Given the description of an element on the screen output the (x, y) to click on. 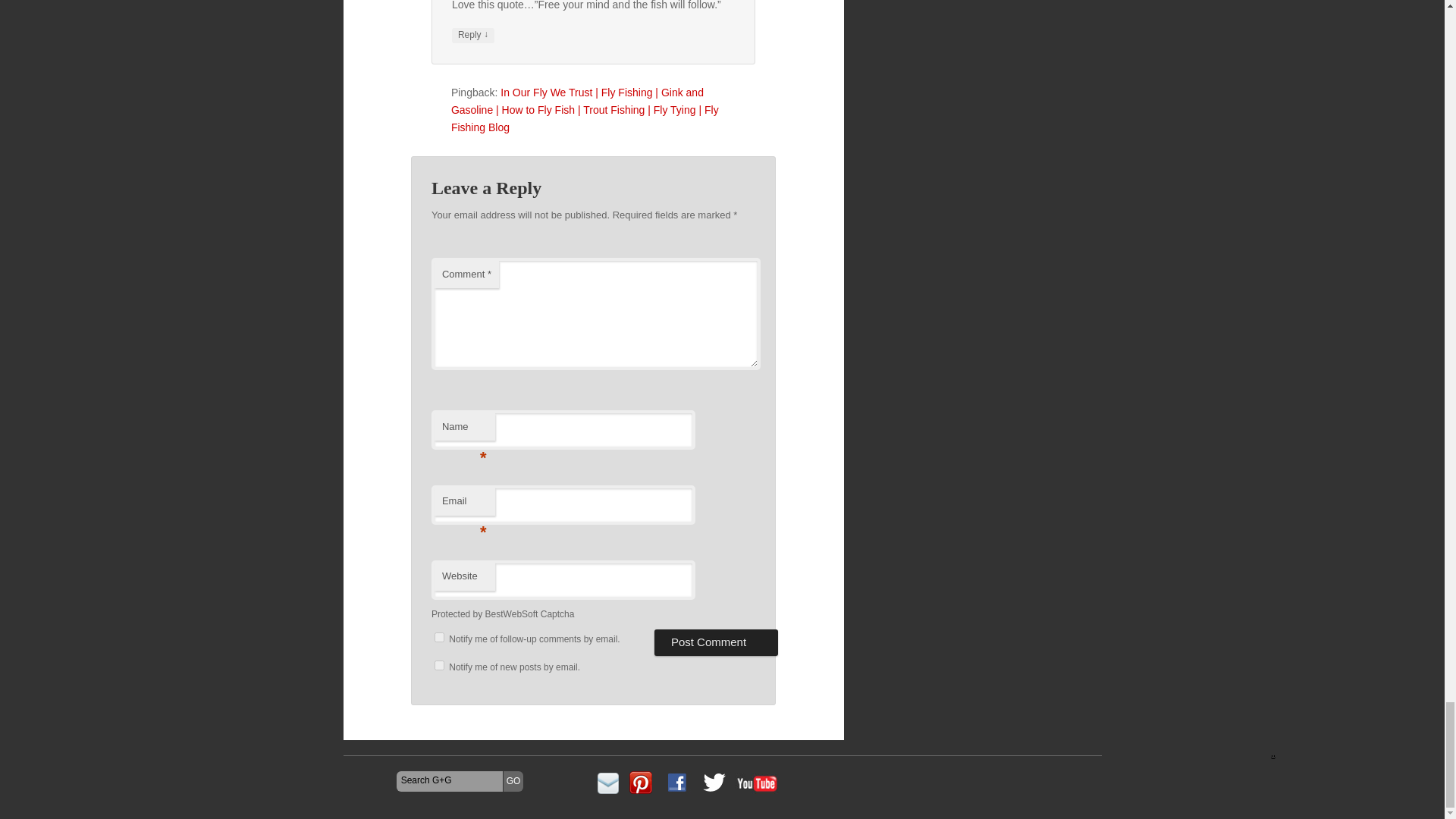
GO (513, 781)
Post Comment (715, 642)
subscribe (438, 665)
subscribe (438, 637)
